Given the description of an element on the screen output the (x, y) to click on. 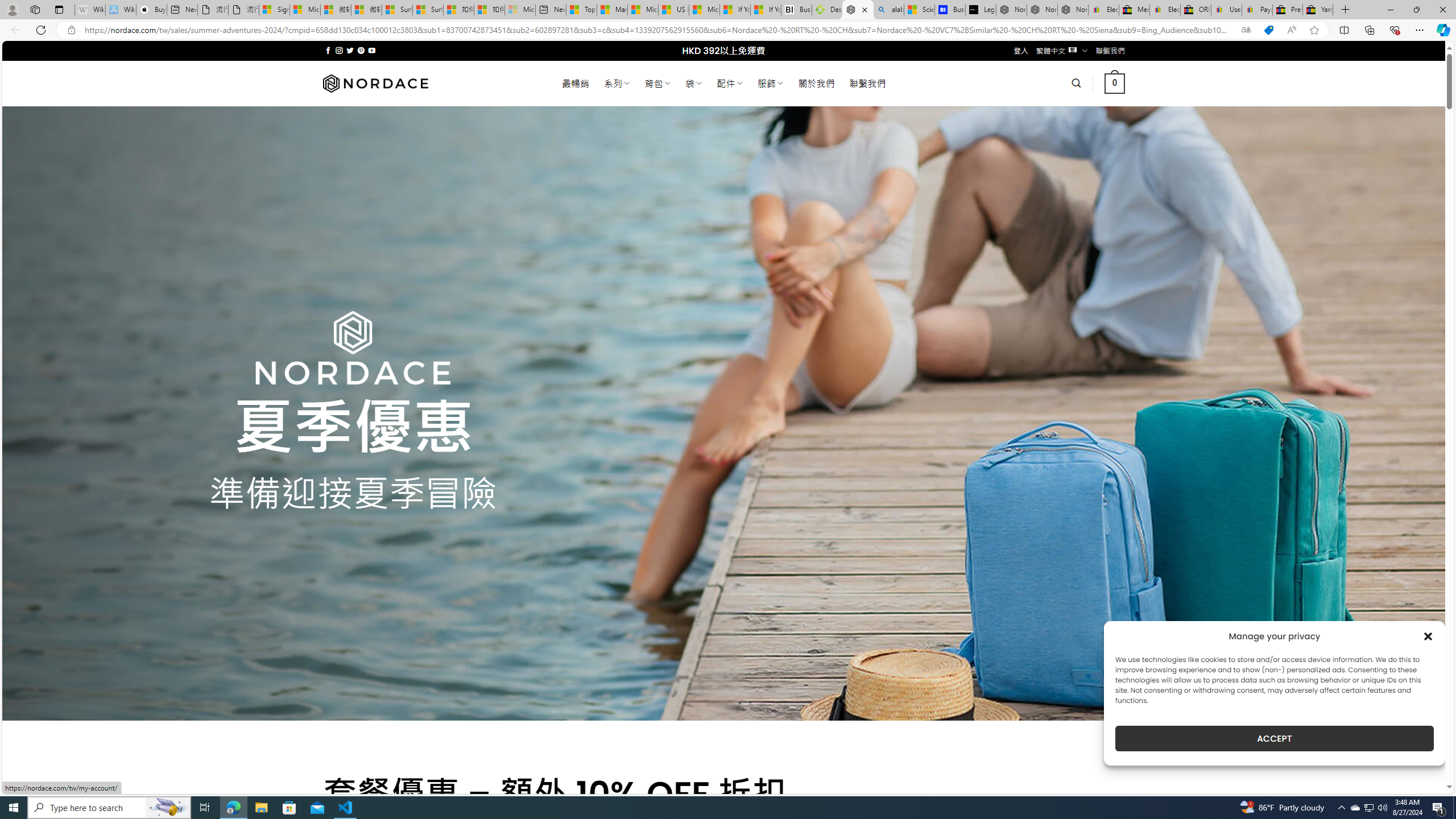
Follow on Facebook (327, 50)
Yard, Garden & Outdoor Living (1317, 9)
Descarga Driver Updater (826, 9)
Press Room - eBay Inc. (1287, 9)
Follow on Instagram (338, 50)
 0  (1115, 83)
